Given the description of an element on the screen output the (x, y) to click on. 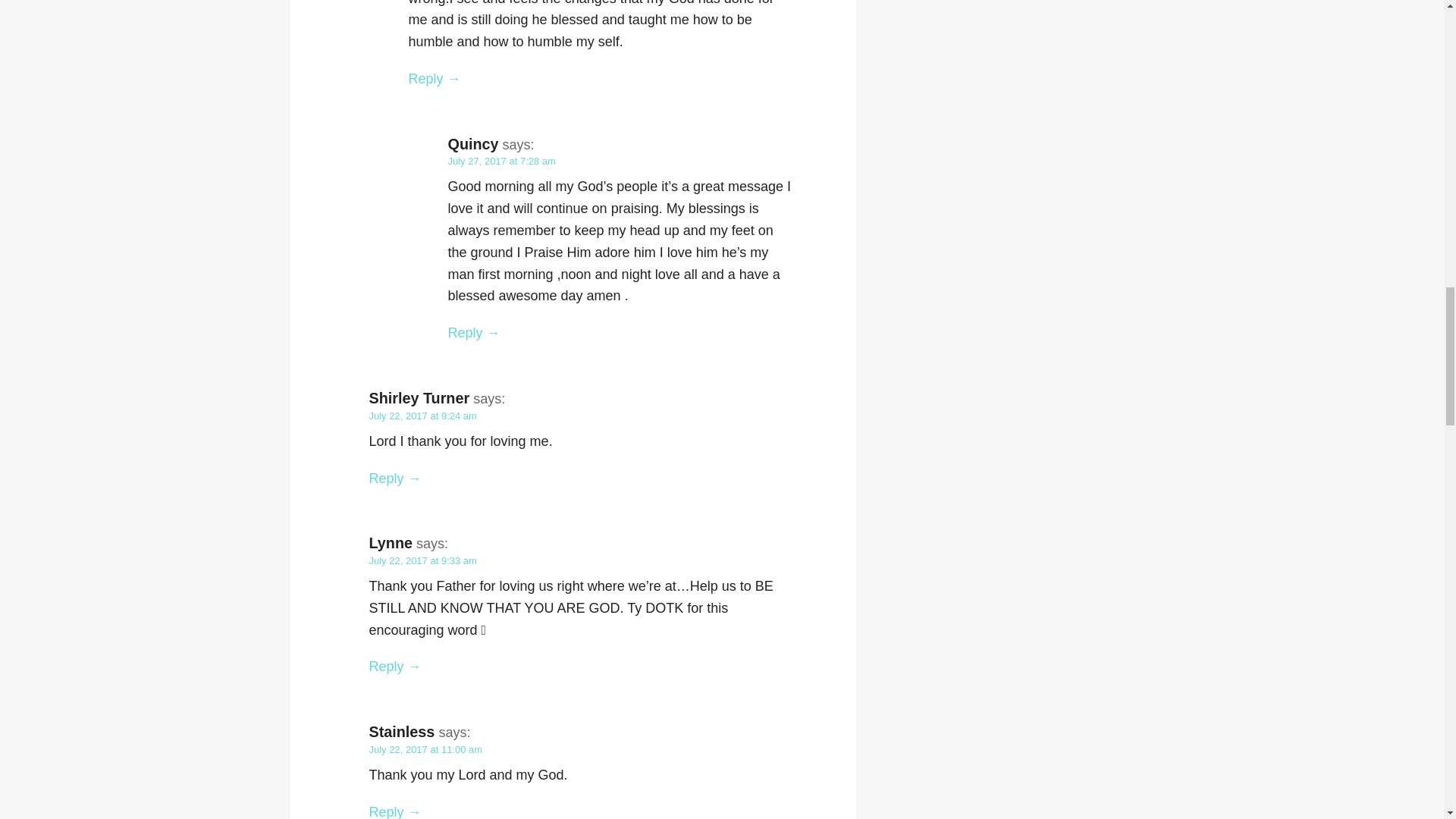
July 22, 2017 at 9:33 am (422, 560)
Reply (394, 811)
Reply (433, 78)
Reply (394, 666)
July 22, 2017 at 11:00 am (424, 749)
July 22, 2017 at 9:24 am (422, 415)
July 27, 2017 at 7:28 am (500, 161)
Reply (394, 477)
Reply (472, 332)
